Given the description of an element on the screen output the (x, y) to click on. 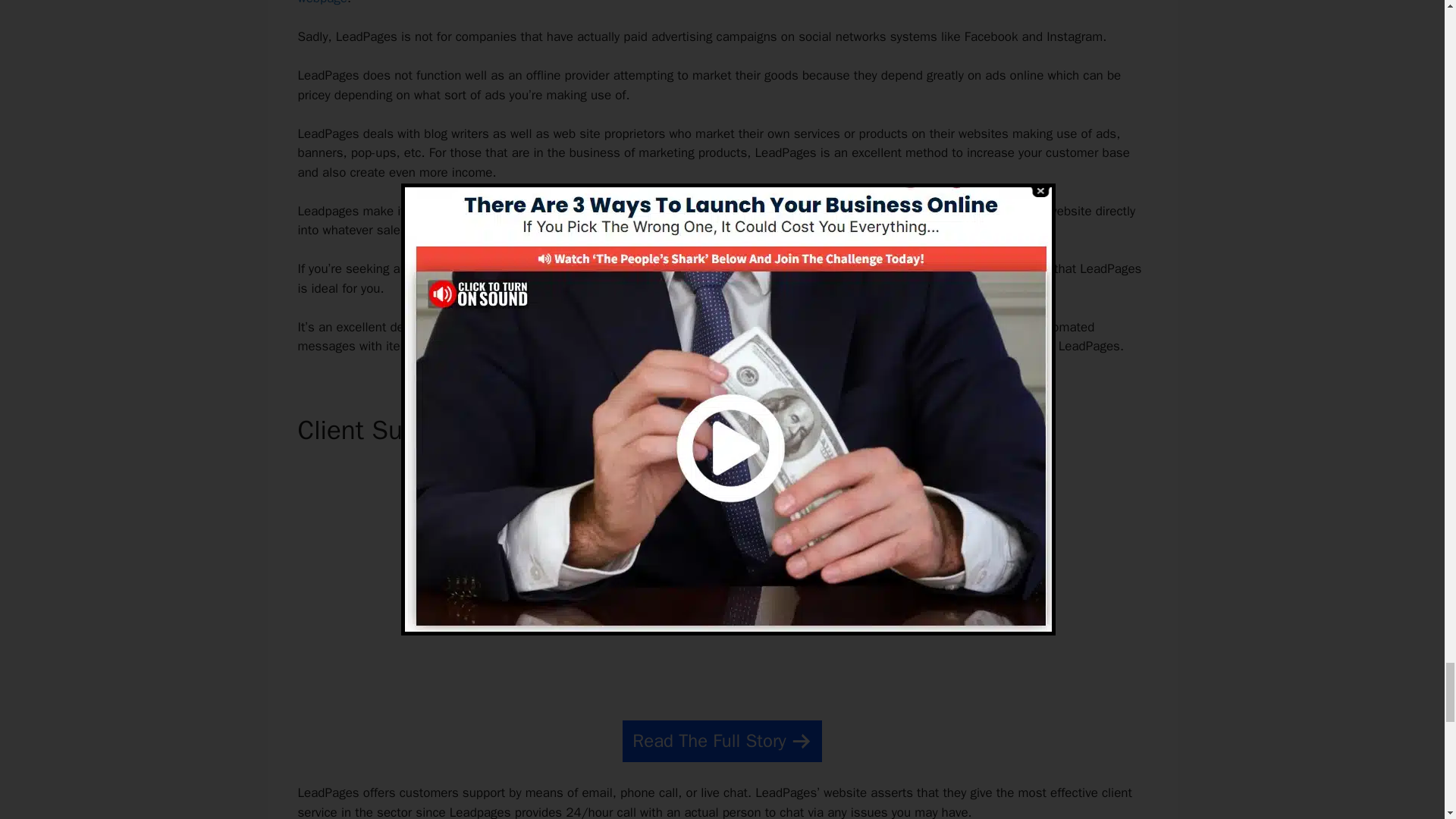
Read The Full Story (722, 741)
